Given the description of an element on the screen output the (x, y) to click on. 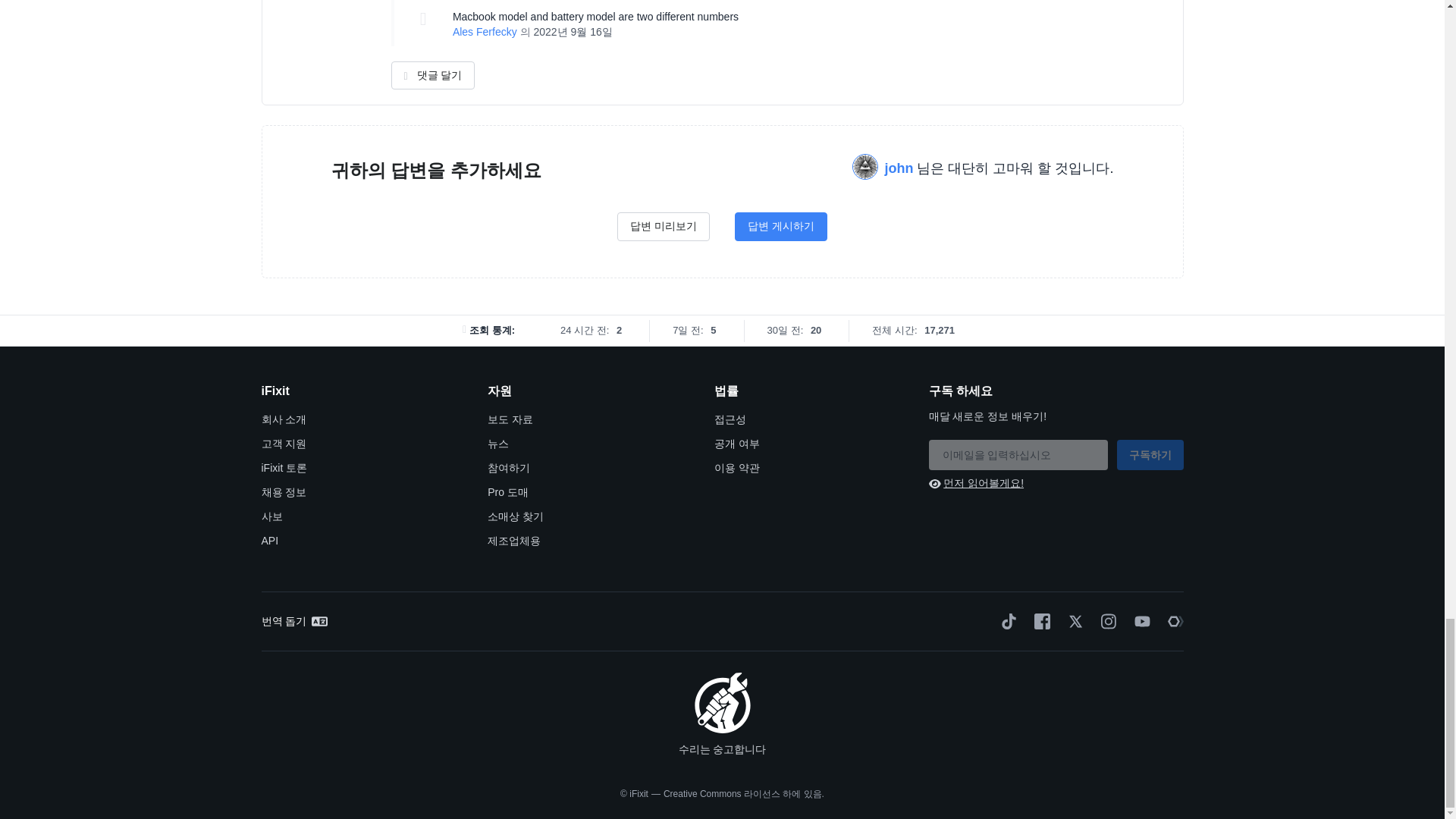
Fri, 16 Sep 2022 02:10:56 -0700 (571, 31)
